Given the description of an element on the screen output the (x, y) to click on. 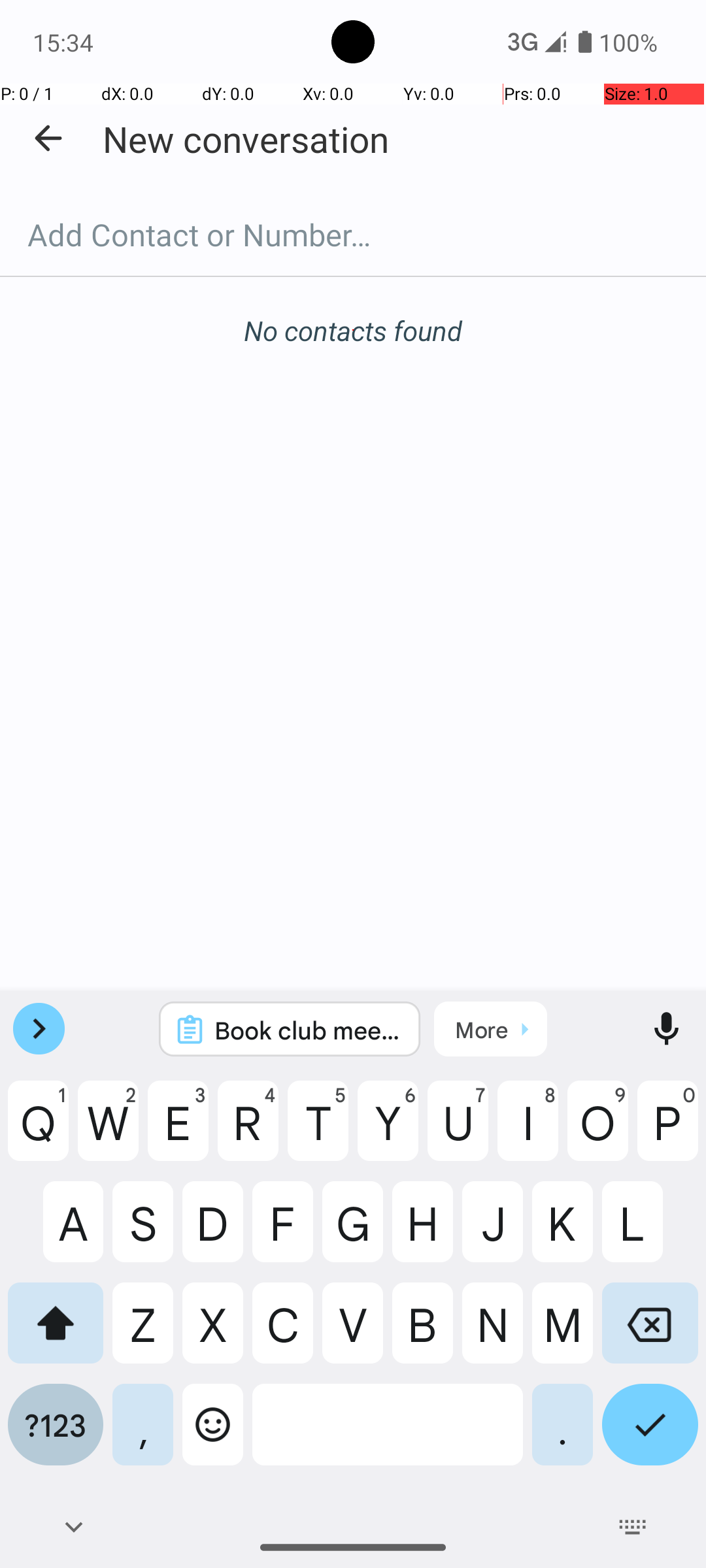
New conversation Element type: android.widget.TextView (245, 138)
Add Contact or Number… Element type: android.widget.EditText (352, 234)
No contacts found Element type: android.widget.TextView (353, 329)
Book club meets next Tuesday to discuss '1984'. Element type: android.widget.TextView (306, 1029)
